Given the description of an element on the screen output the (x, y) to click on. 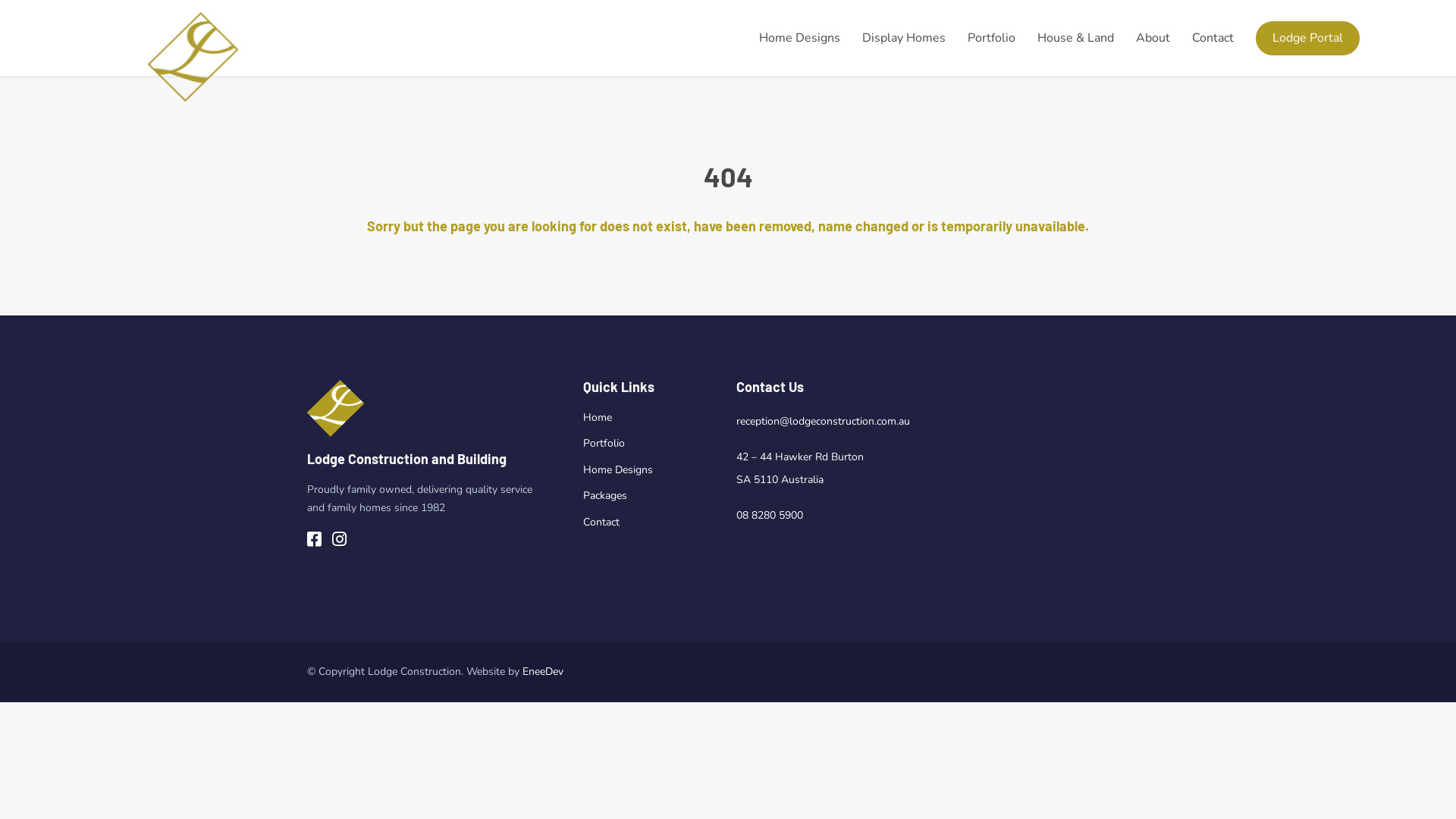
reception@lodgeconstruction.com.au Element type: text (823, 421)
Home Element type: text (597, 417)
Contact Element type: text (1212, 37)
lodge-logo-outline-clear Element type: hover (192, 56)
Contact Element type: text (601, 521)
Portfolio Element type: text (991, 37)
Portfolio Element type: text (603, 443)
Display Homes Element type: text (903, 37)
House & Land Element type: text (1075, 37)
About Element type: text (1152, 37)
Home Designs Element type: text (799, 37)
EneeDev Element type: text (542, 671)
Lodge Portal Element type: text (1307, 38)
Home Designs Element type: text (617, 469)
Packages Element type: text (605, 495)
08 8280 5900 Element type: text (769, 515)
